Given the description of an element on the screen output the (x, y) to click on. 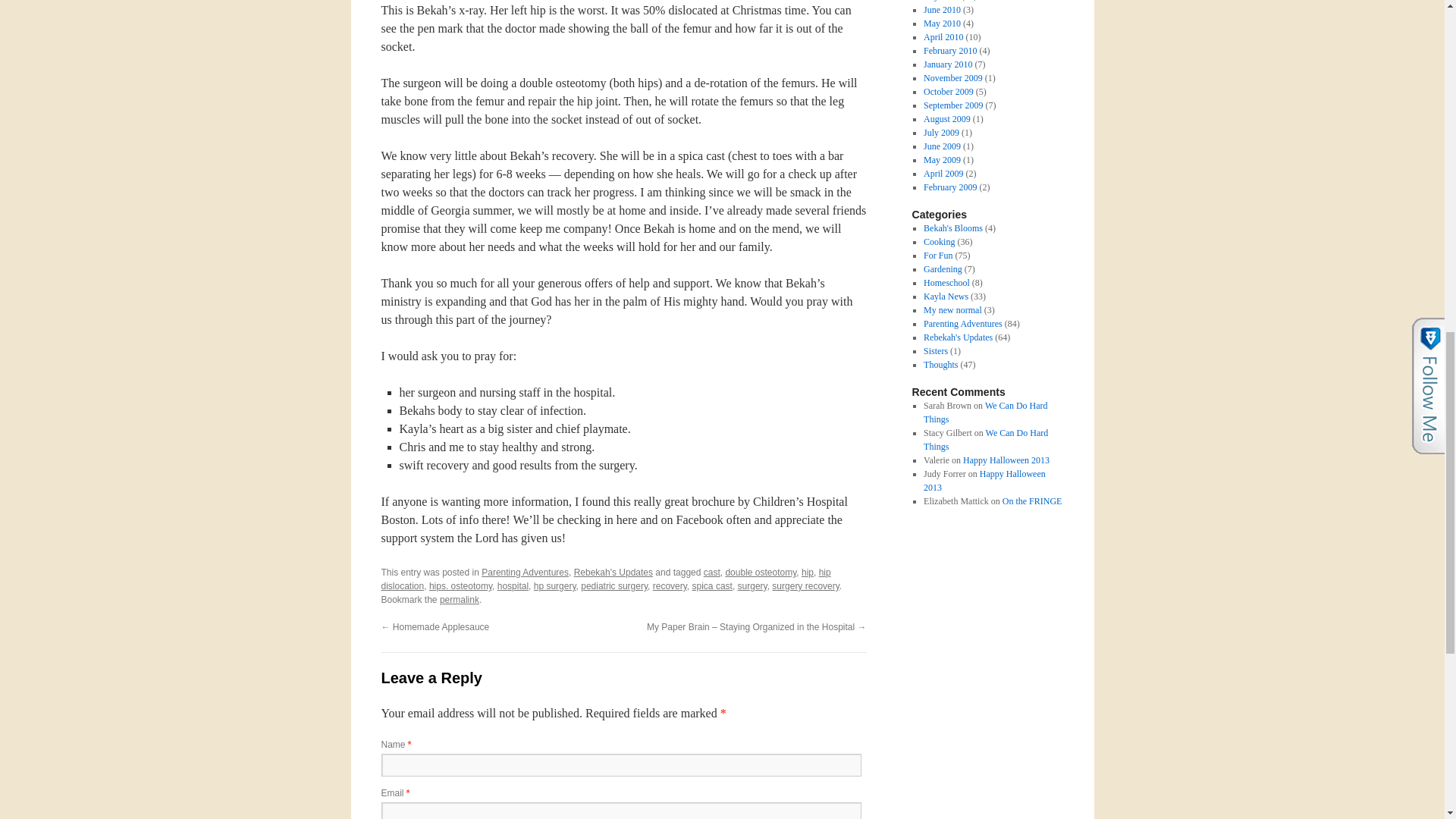
pediatric surgery (613, 585)
hips. osteotomy (460, 585)
Parenting Adventures (525, 572)
permalink (459, 599)
spica cast (712, 585)
Permalink to Osteotomy (459, 599)
hospital (512, 585)
hip dislocation (604, 579)
double osteotomy (760, 572)
hp surgery (555, 585)
surgery (752, 585)
recovery (669, 585)
cast (711, 572)
hip (807, 572)
surgery recovery (804, 585)
